Given the description of an element on the screen output the (x, y) to click on. 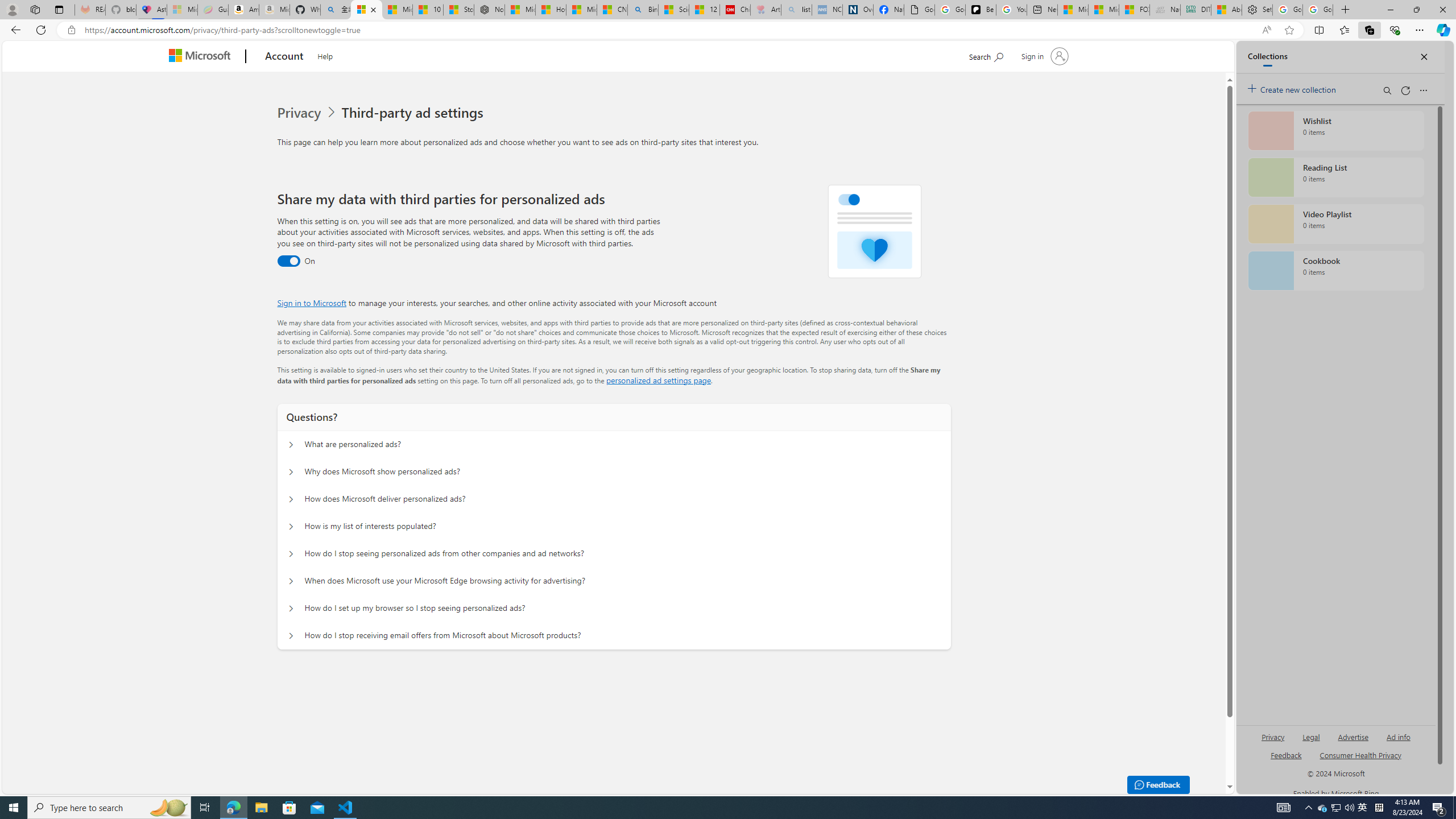
New Tab (1346, 9)
Help (325, 54)
Arthritis: Ask Health Professionals - Sleeping (765, 9)
New tab (1042, 9)
Microsoft (202, 56)
View site information (70, 29)
Copilot (Ctrl+Shift+.) (1442, 29)
Navy Quest (1164, 9)
Restore (1416, 9)
Third party data sharing toggle (287, 260)
Refresh (40, 29)
Add this page to favorites (Ctrl+D) (1289, 29)
